Given the description of an element on the screen output the (x, y) to click on. 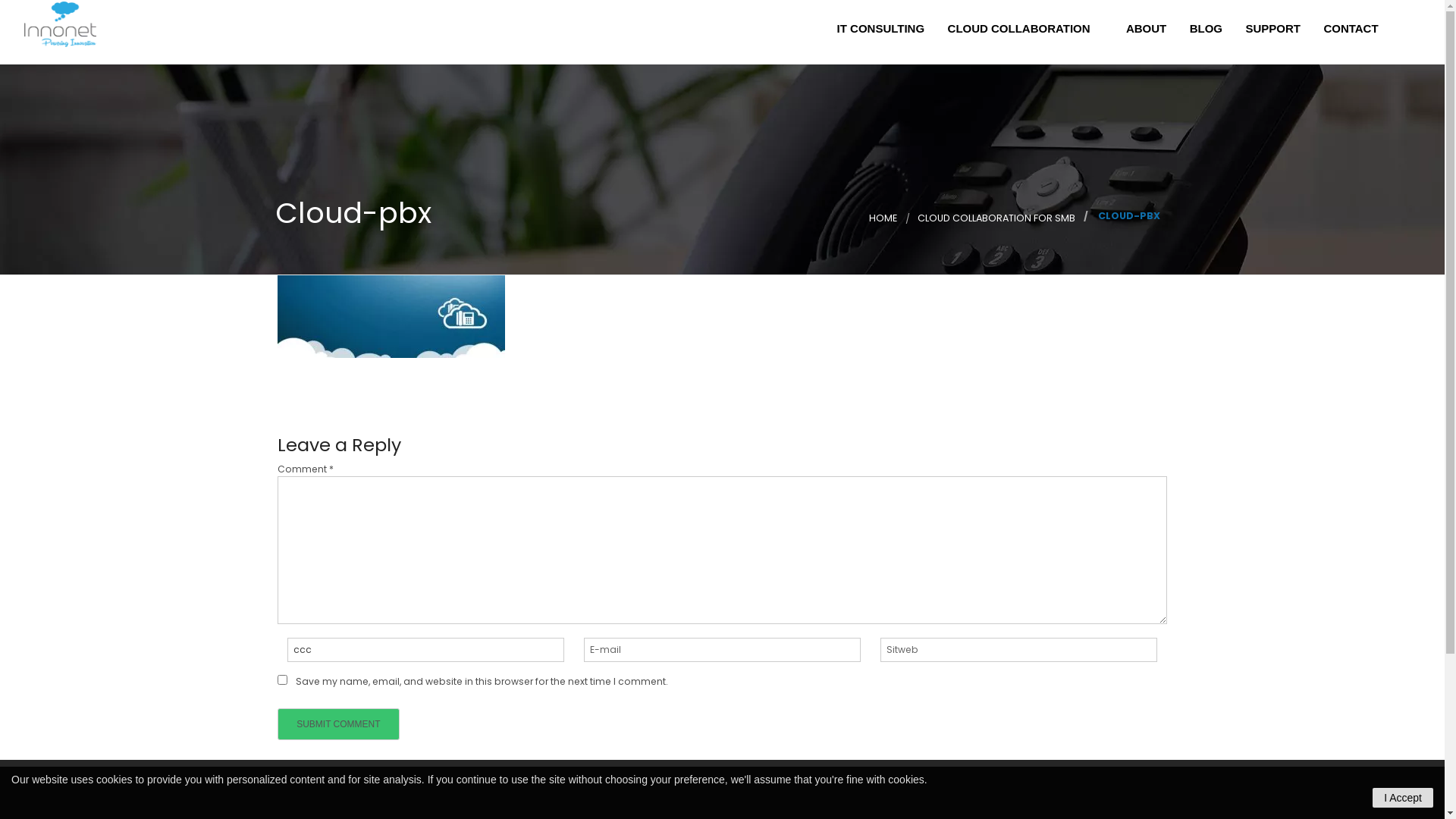
MS Teams Direct Routing Element type: text (994, 61)
BLOG Element type: text (1204, 31)
SUPPORT Element type: text (1271, 31)
CLOUD COLLABORATION Element type: text (1023, 31)
CALL 1300164837 Element type: text (1370, 61)
ABOUT Element type: text (1144, 31)
I Accept Element type: text (1402, 797)
I Deny Element type: text (26, 9)
HOME Element type: text (883, 217)
Cloud Consulting & Collaboration Services Sydney Element type: hover (59, 24)
CONTACT Element type: text (1355, 31)
Submit Comment Element type: text (338, 723)
IT CONSULTING Element type: text (878, 31)
CLOUD COLLABORATION FOR SMB Element type: text (996, 217)
